Given the description of an element on the screen output the (x, y) to click on. 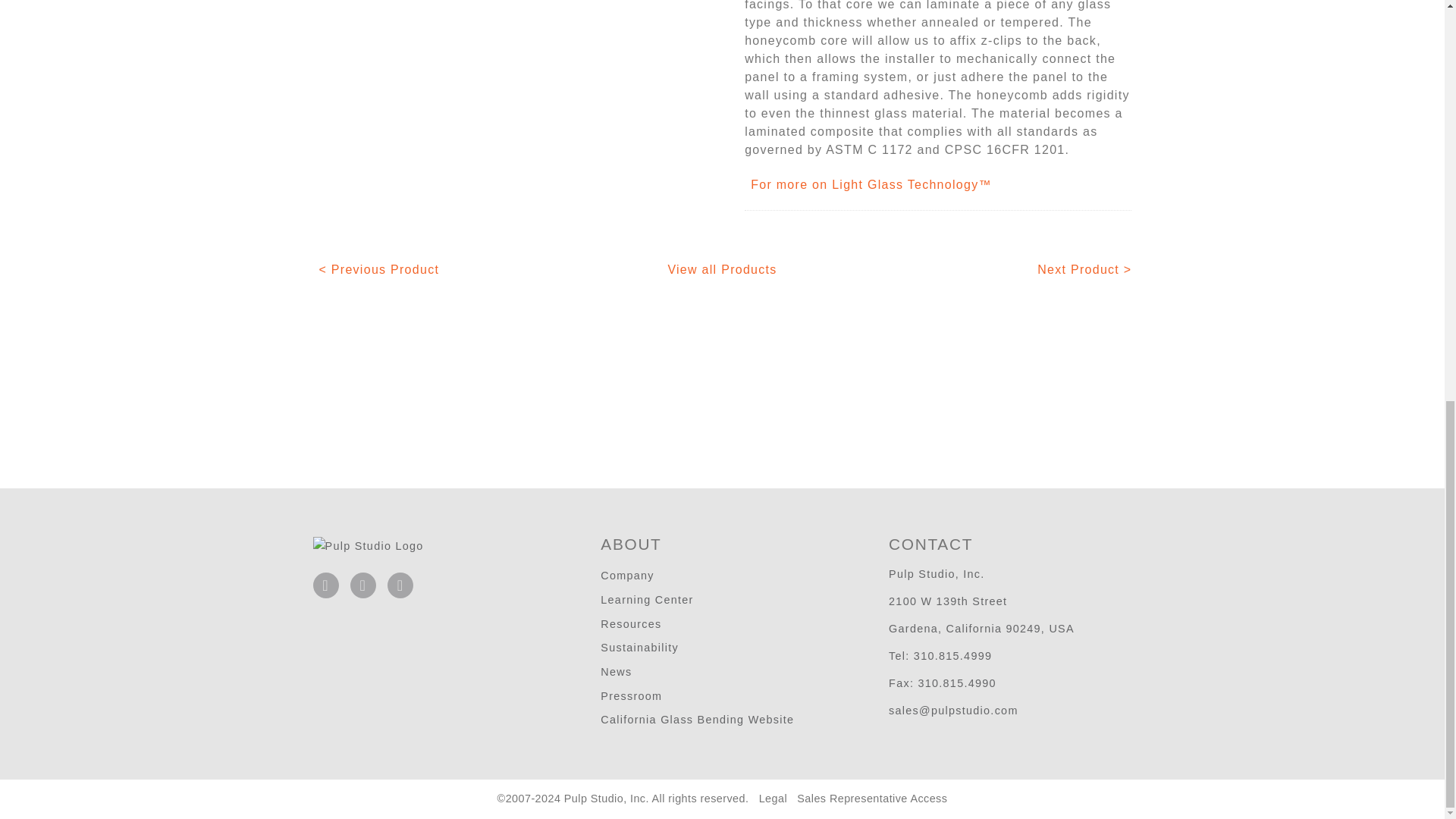
Resources (630, 623)
lgt-gallery-dg-02 (428, 12)
Legal (772, 798)
lgt-gallery-dg-03 (506, 12)
View all Products (721, 269)
lgt-gallery-dg-01 (350, 12)
California Glass Bending Website (696, 719)
lgt-gallery-dg-02 (428, 20)
News (615, 671)
Learning Center (646, 599)
